Given the description of an element on the screen output the (x, y) to click on. 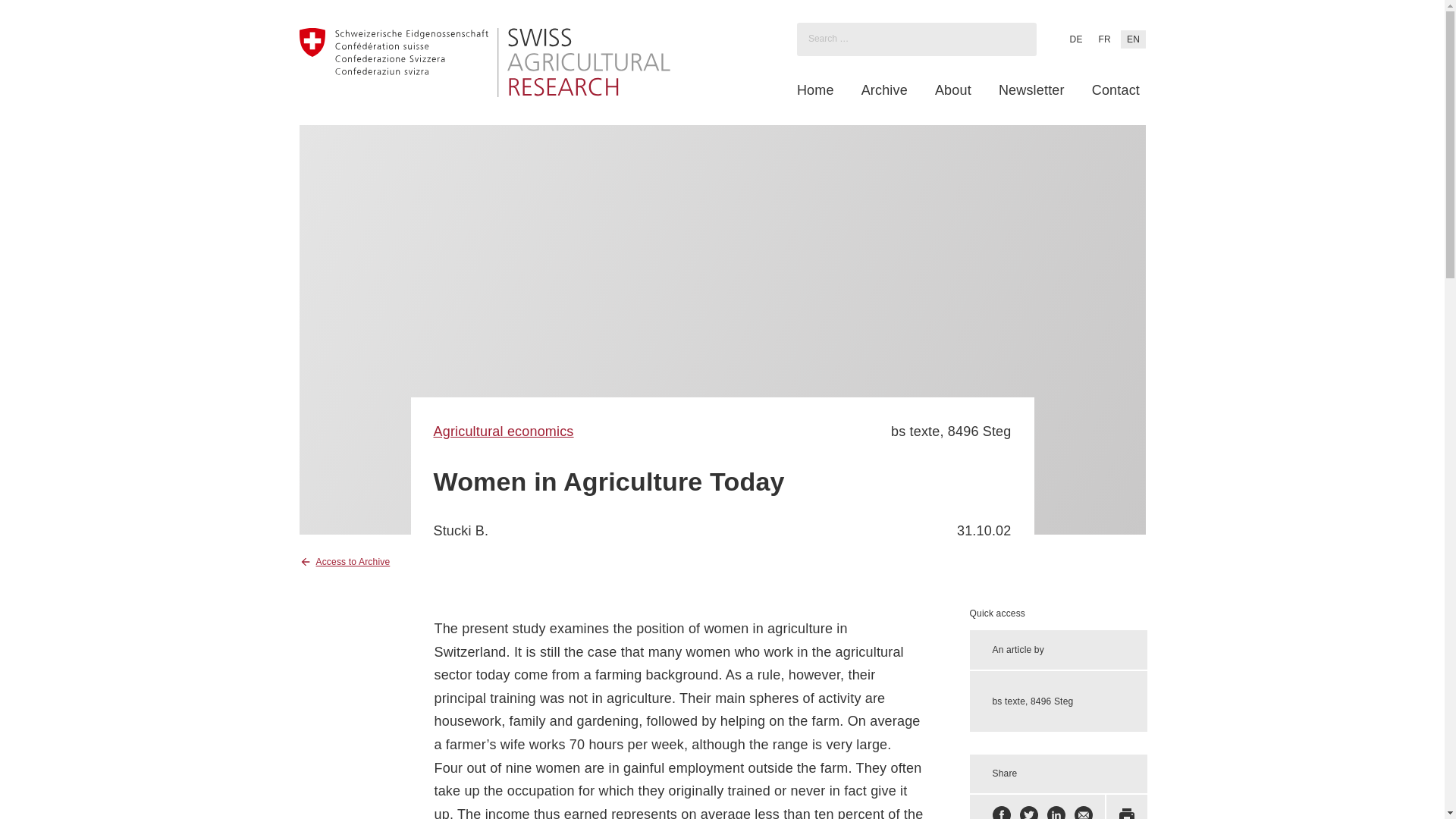
Share on Facebook (1001, 812)
Share by e-mail (1083, 812)
Share on LinkedIn (1055, 812)
Agricultural economics (503, 431)
Contact (1116, 90)
Share by e-mail (1083, 812)
Share on Facebook (1001, 812)
FR (1104, 39)
DE (1075, 39)
Share on LinkedIn (1055, 812)
Print this article (1126, 812)
Share on Twitter (1029, 812)
Access to Archive (344, 561)
About (952, 90)
Download this article as a PDF (1126, 812)
